Given the description of an element on the screen output the (x, y) to click on. 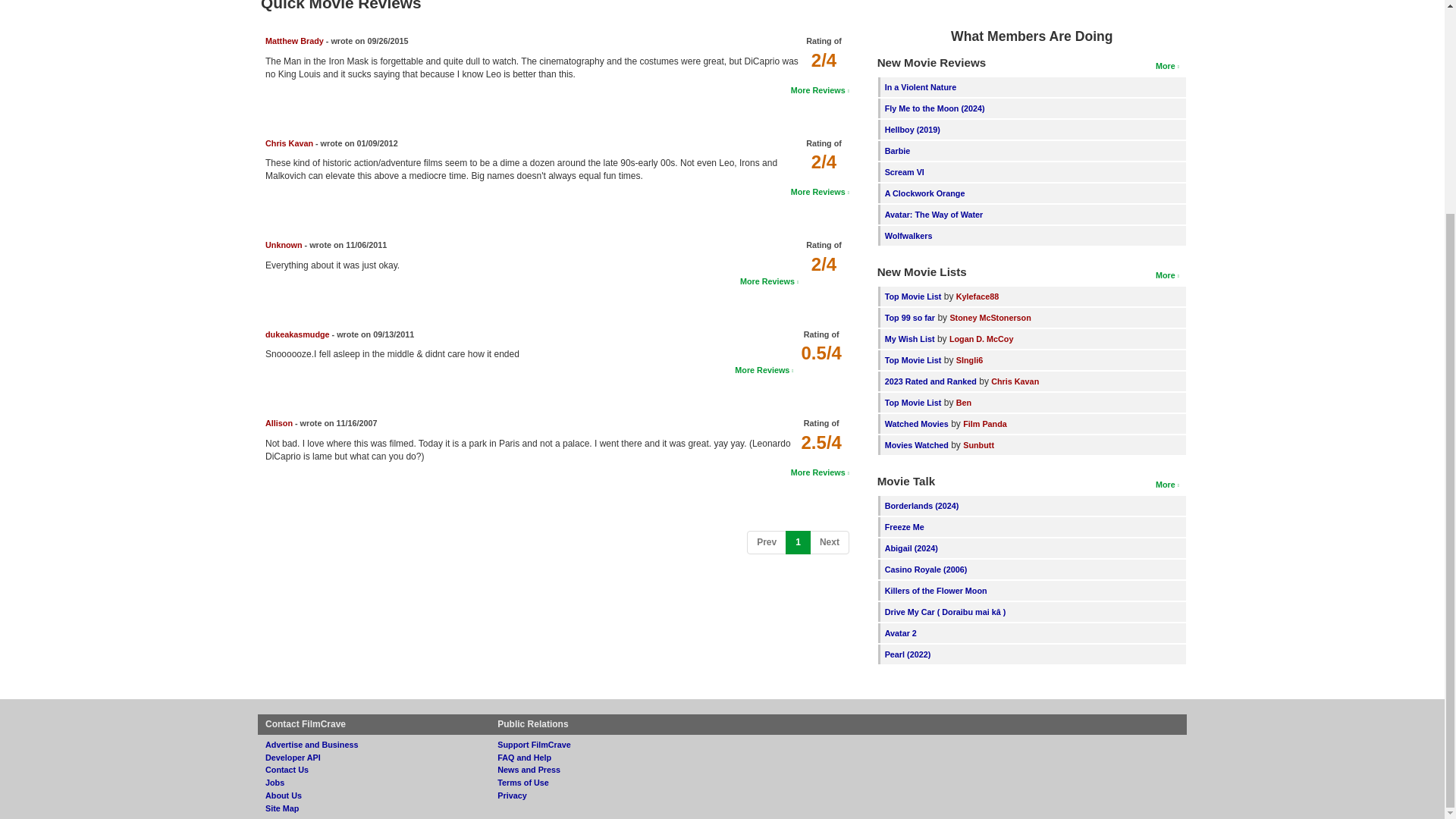
Movie review by Chris Kavan (288, 143)
Read more reviews from Matthew Brady (819, 90)
Read more reviews from Chris Kavan (819, 191)
Read more reviews from Unknown (768, 280)
2 out of 4 stars (822, 59)
0.5 out of 4 stars (821, 353)
2 out of 4 stars (822, 263)
Movie review by Matthew Brady (293, 40)
Movie review by dukeakasmudge (297, 334)
2.5 out of 4 stars (821, 442)
